Given the description of an element on the screen output the (x, y) to click on. 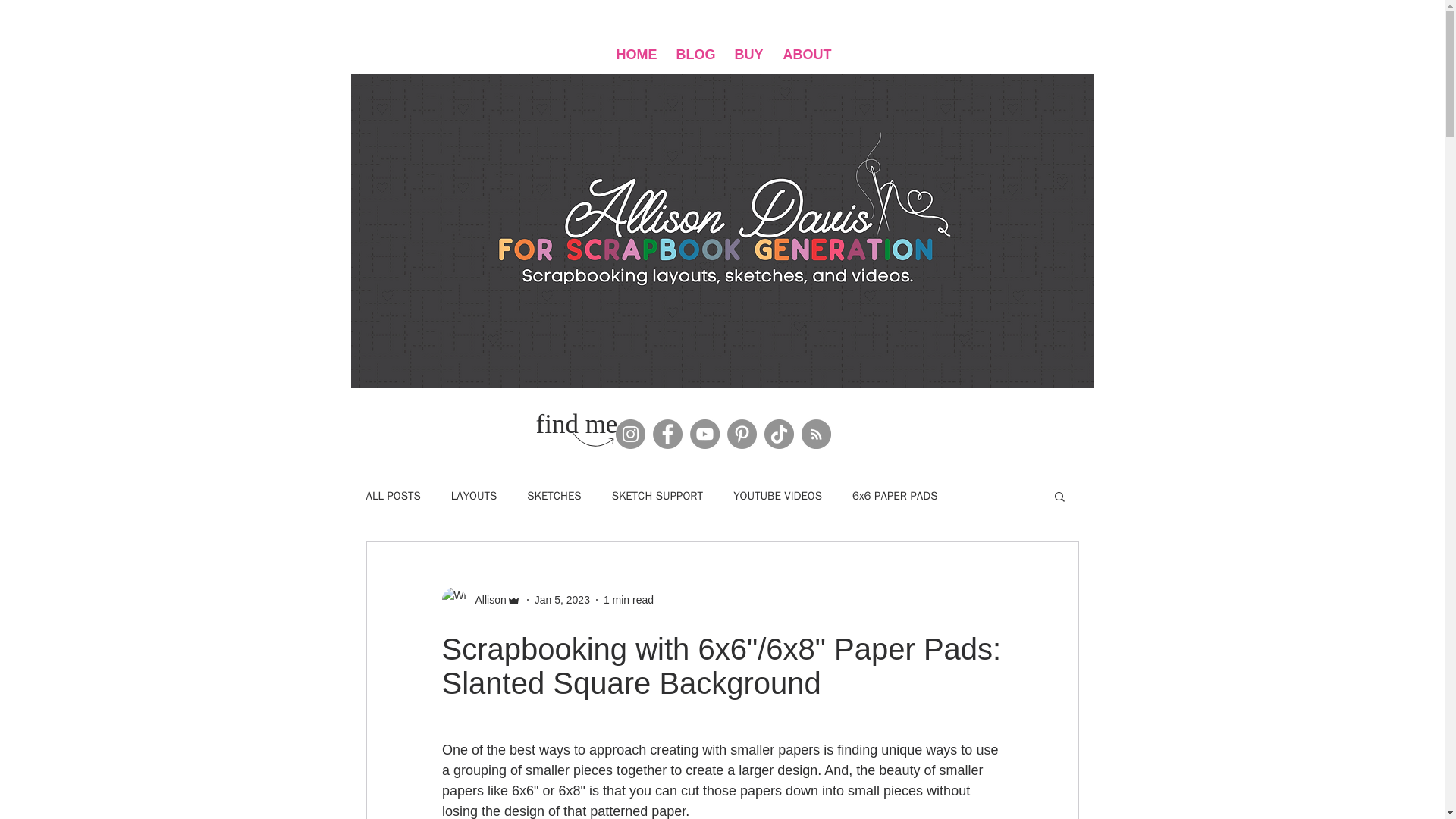
Jan 5, 2023 (561, 598)
SKETCHES (553, 495)
Allison (485, 599)
BLOG (694, 54)
Allison (480, 599)
YOUTUBE VIDEOS (777, 495)
ABOUT (805, 54)
BUY (747, 54)
LAYOUTS (474, 495)
SKETCH SUPPORT (657, 495)
6x6 PAPER PADS (894, 495)
1 min read (628, 598)
ALL POSTS (392, 495)
HOME (635, 54)
